Given the description of an element on the screen output the (x, y) to click on. 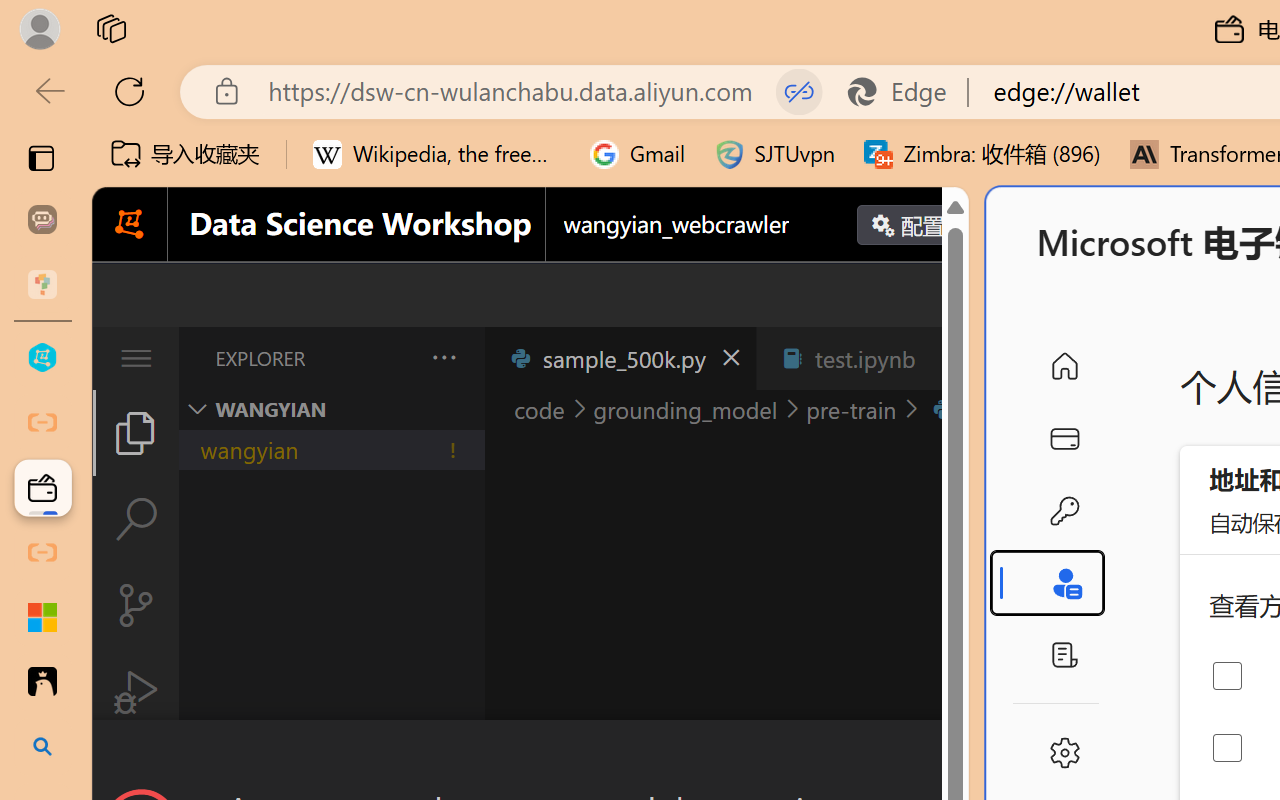
wangyian_dsw - DSW (42, 357)
Views and More Actions... (442, 357)
Adjust indents and spacing - Microsoft Support (42, 617)
Search (Ctrl+Shift+F) (135, 519)
Run and Debug (Ctrl+Shift+D) (135, 692)
